Given the description of an element on the screen output the (x, y) to click on. 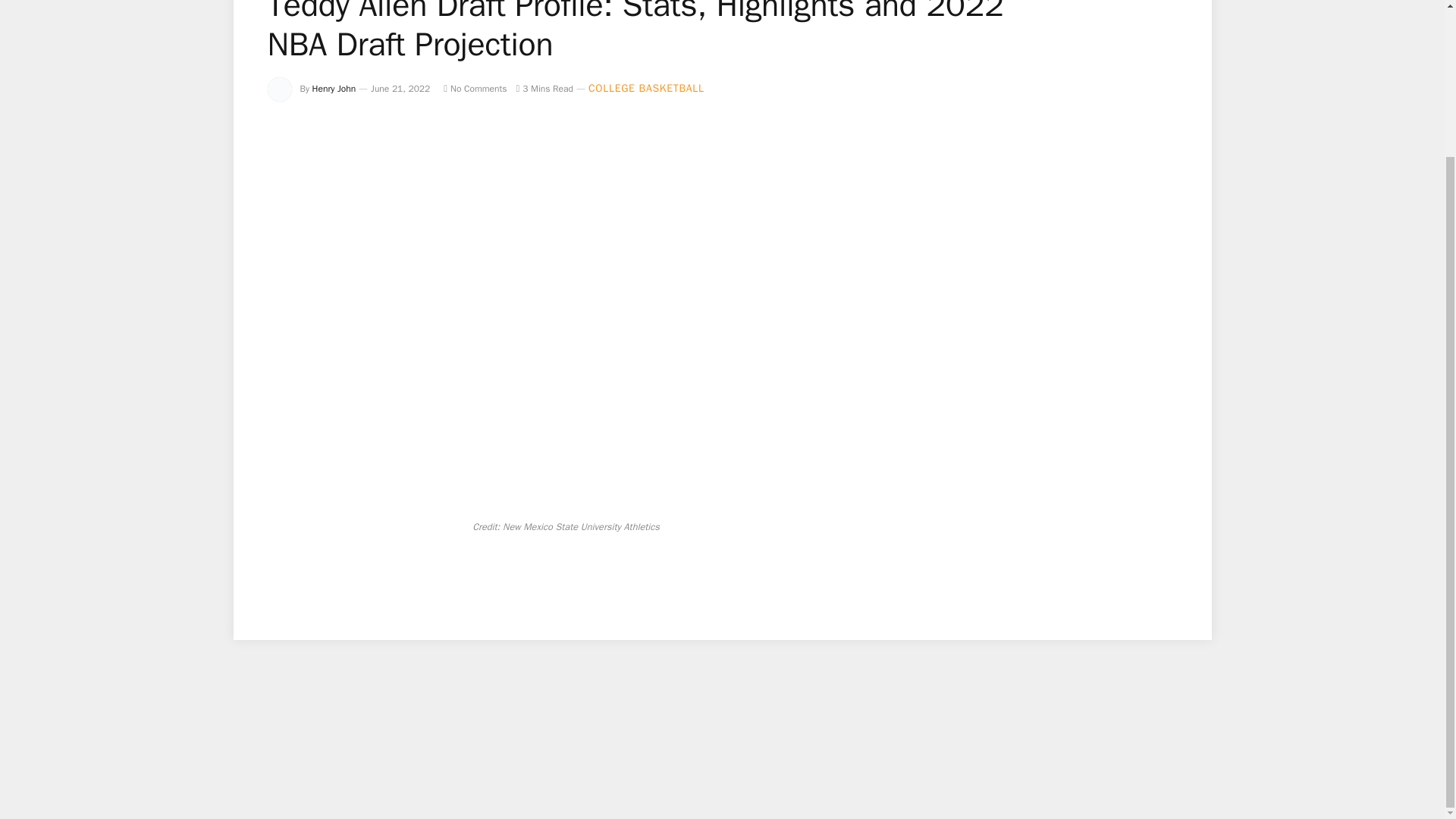
Posts by Henry John (334, 88)
